Given the description of an element on the screen output the (x, y) to click on. 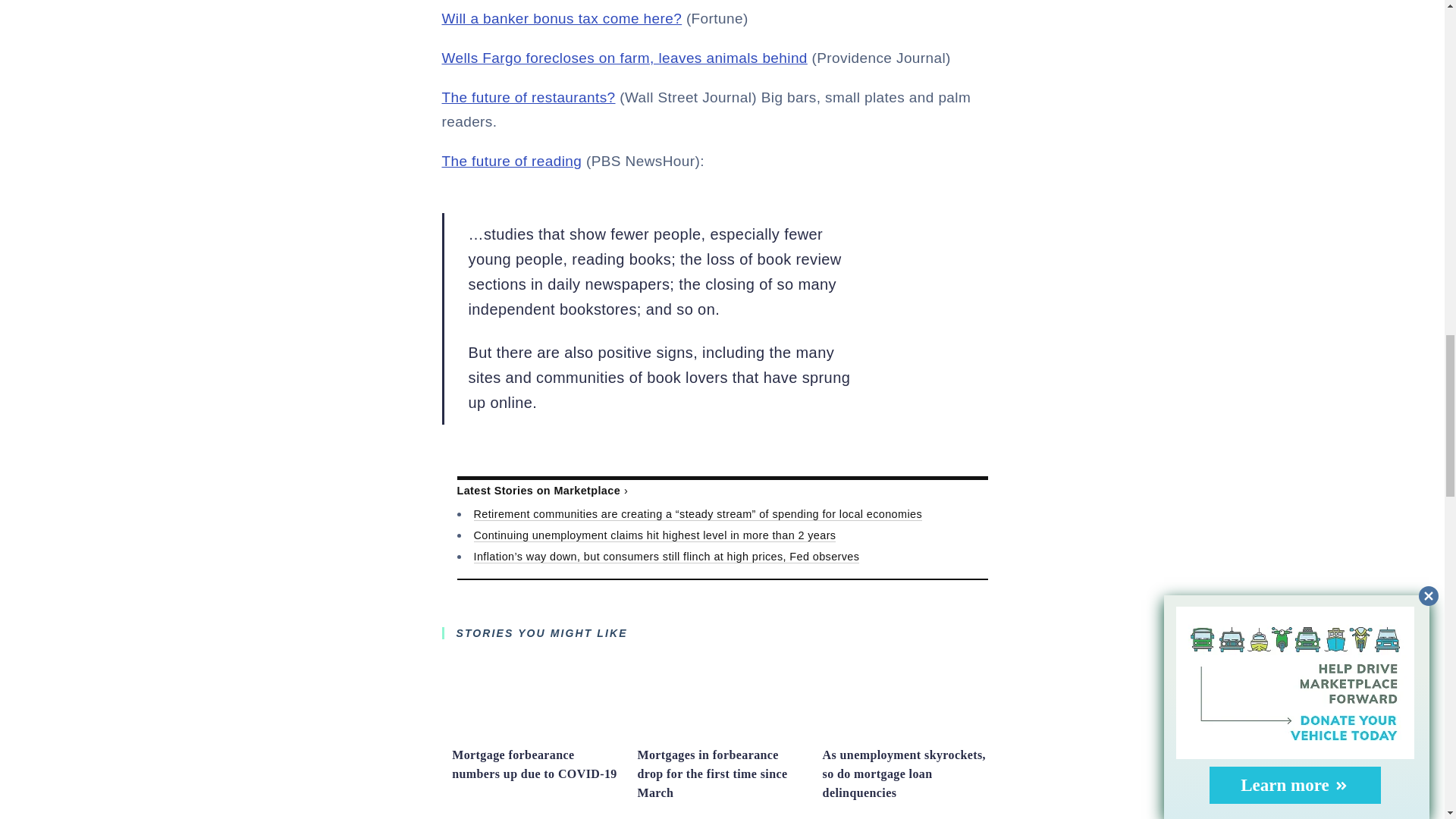
Mortgage forbearance numbers up due to COVID-19 (536, 732)
Mortgages in forbearance drop for the first time since March (721, 732)
Mortgage forbearance numbers up due to COVID-19 (534, 764)
